Given the description of an element on the screen output the (x, y) to click on. 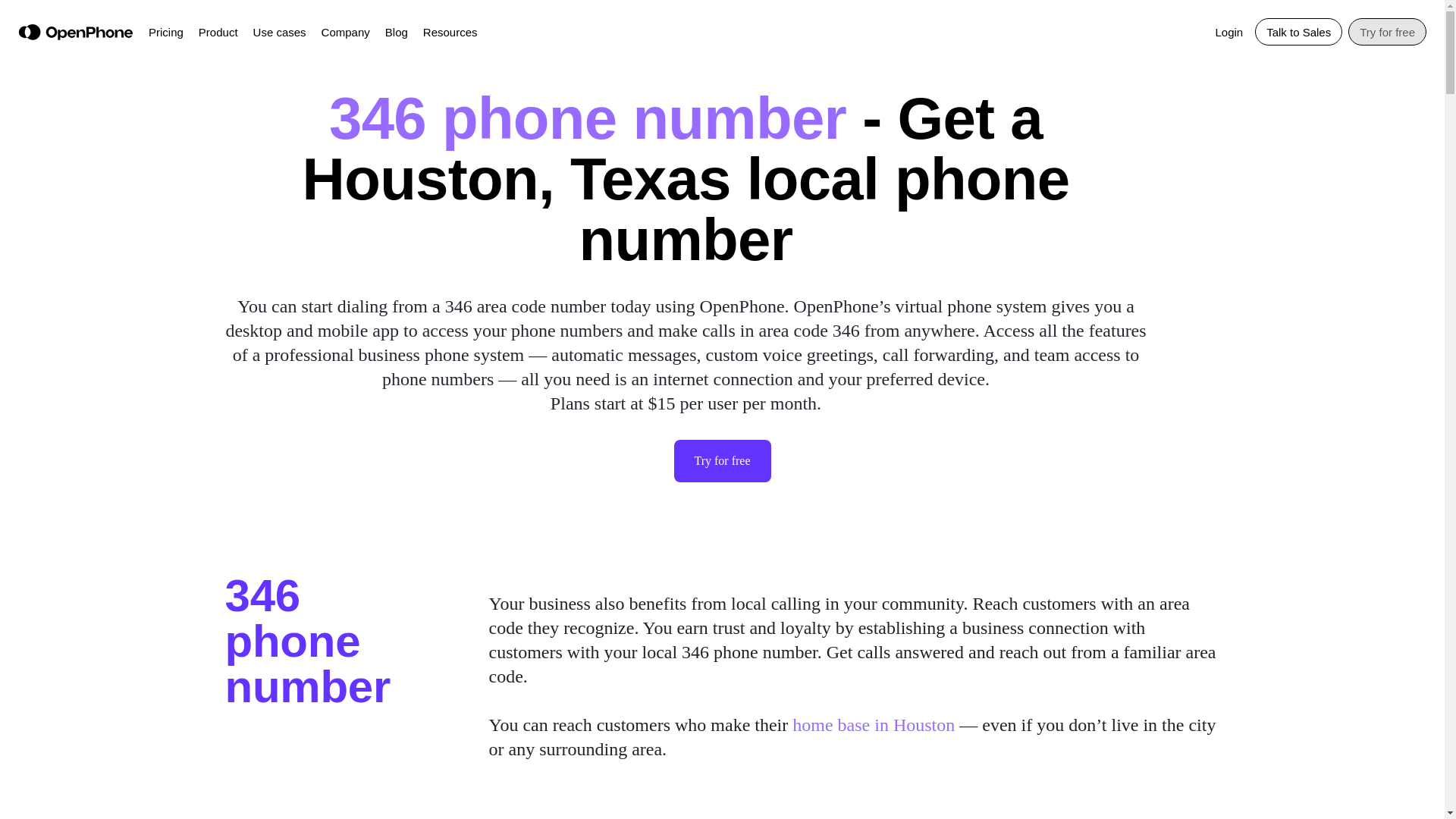
Talk to Sales (1298, 31)
Try for free (1387, 31)
Blog (396, 30)
Login (1228, 30)
home base in Houston (873, 724)
Try for free (721, 460)
Pricing (165, 30)
